Given the description of an element on the screen output the (x, y) to click on. 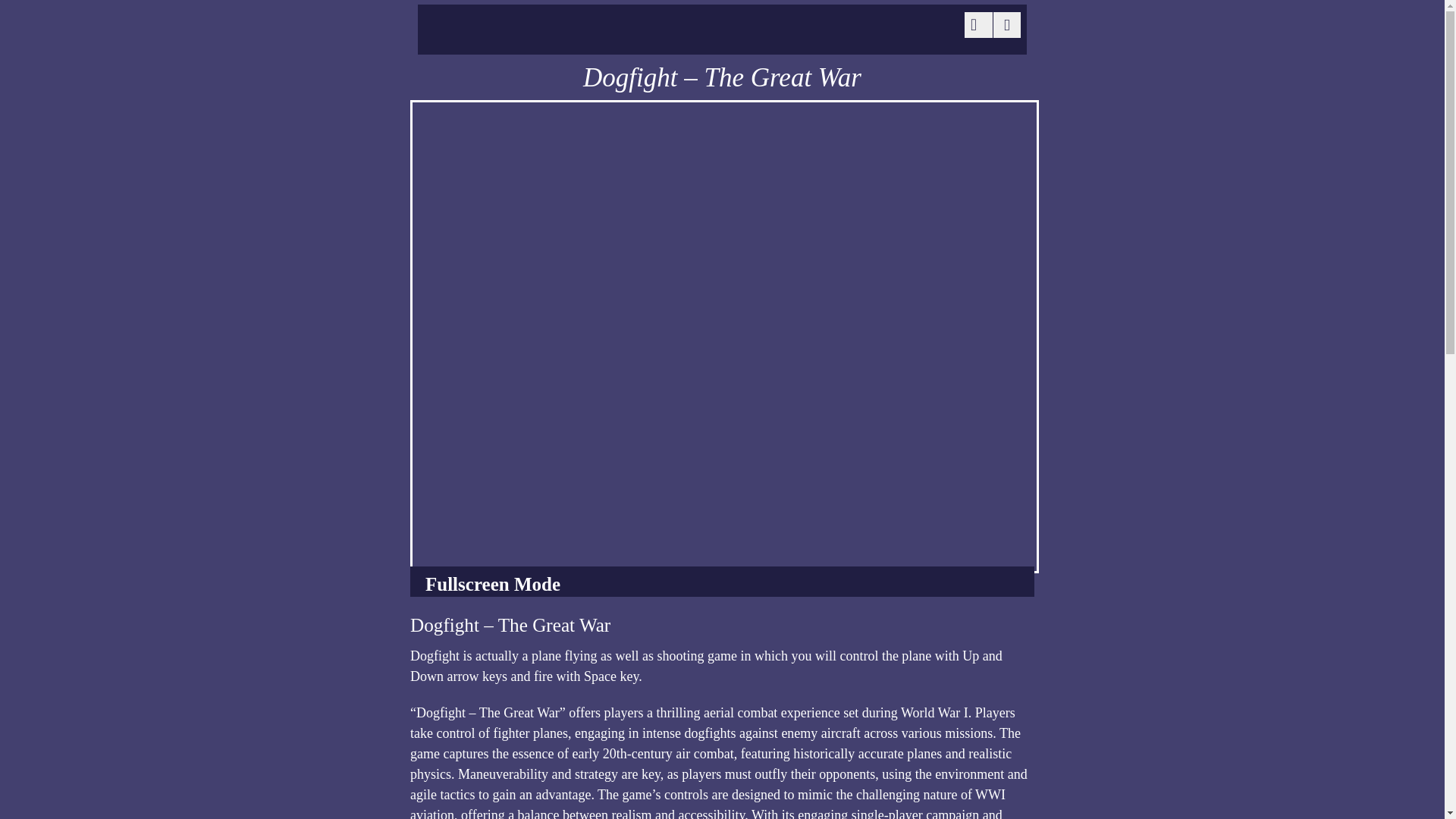
Search (975, 24)
TechGrapple Games (538, 38)
